Given the description of an element on the screen output the (x, y) to click on. 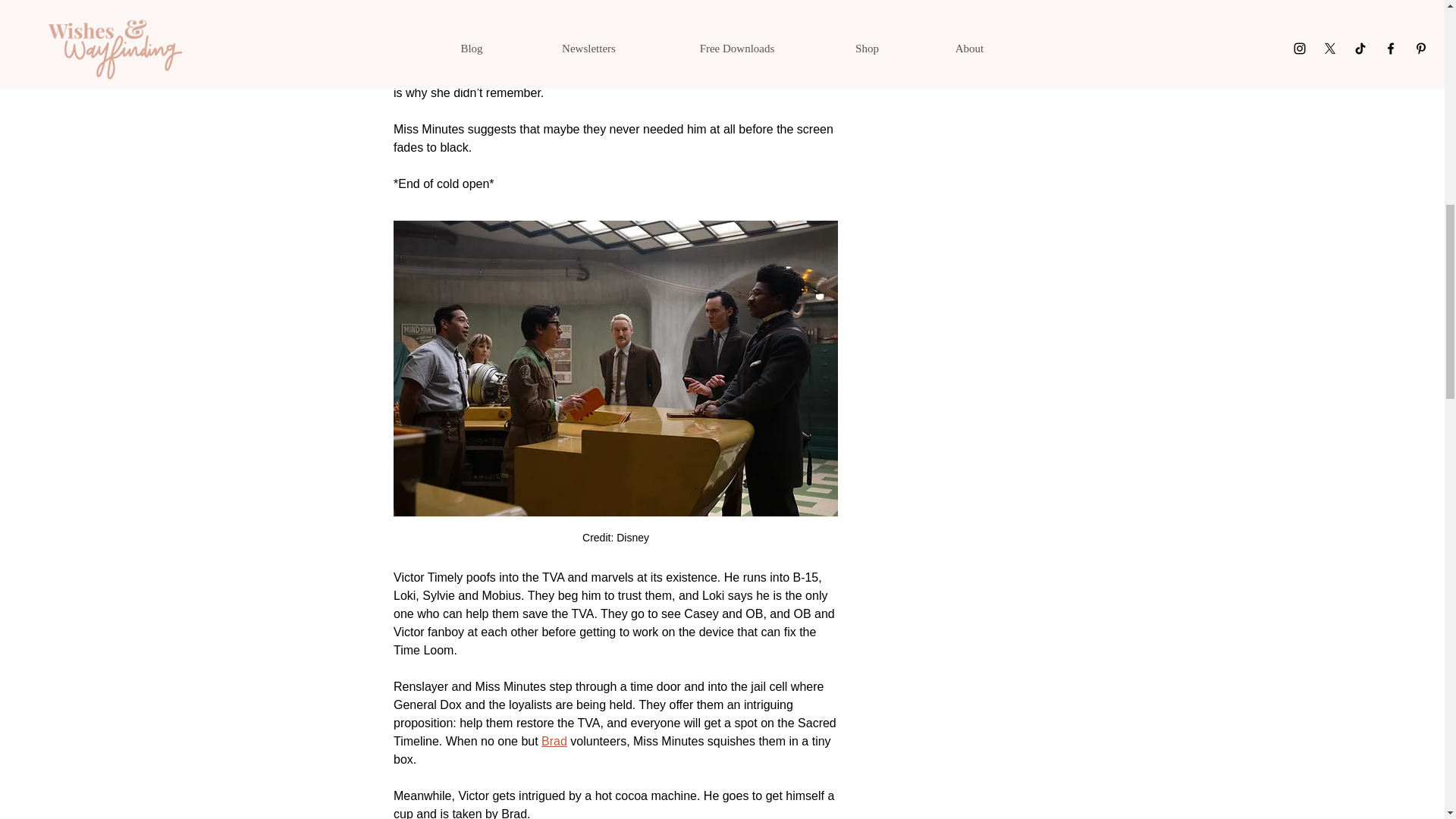
time slipping (778, 19)
Brad (554, 740)
